Given the description of an element on the screen output the (x, y) to click on. 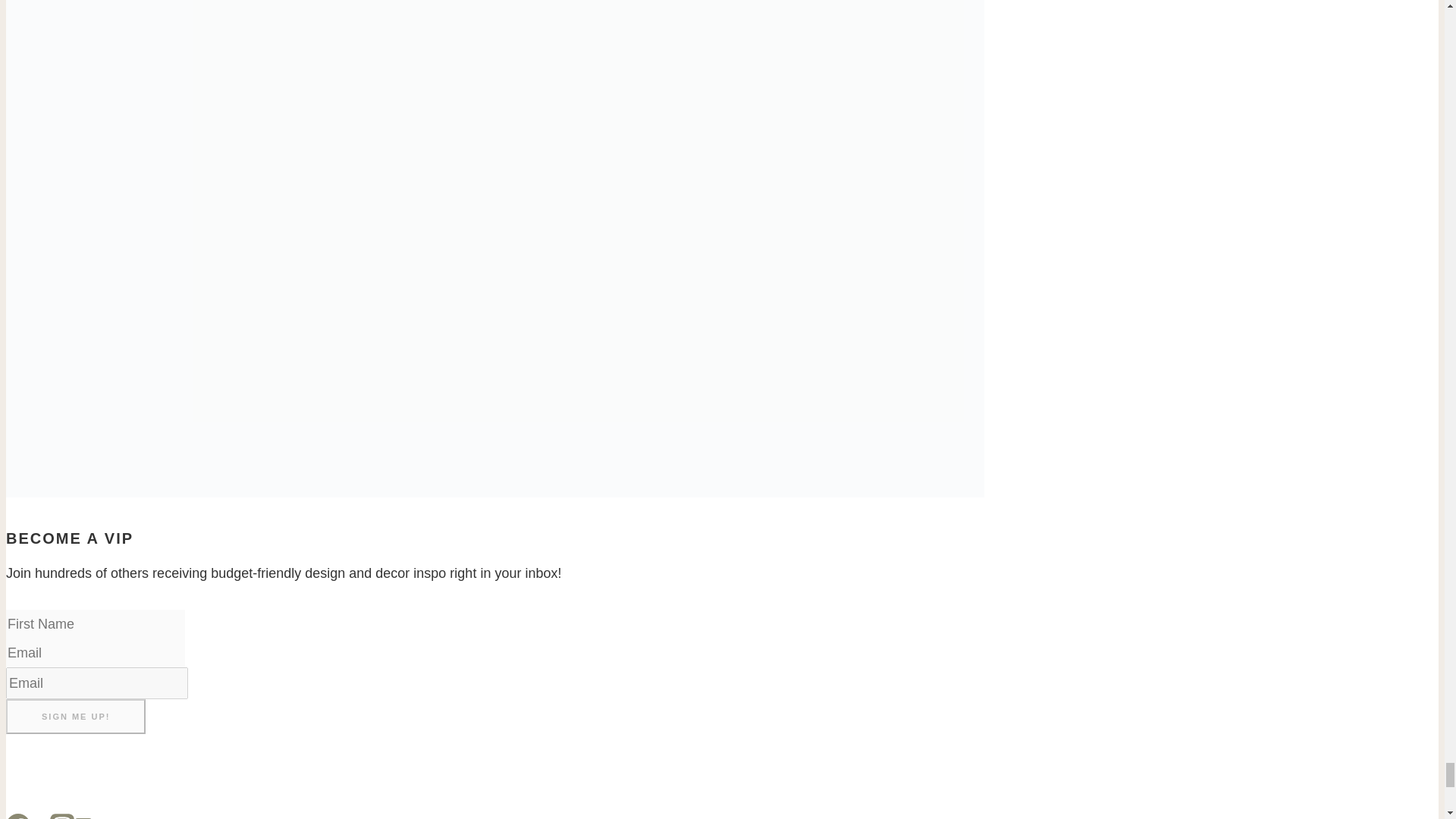
Facebook (17, 816)
Instagram (61, 816)
Twitter (39, 817)
